Given the description of an element on the screen output the (x, y) to click on. 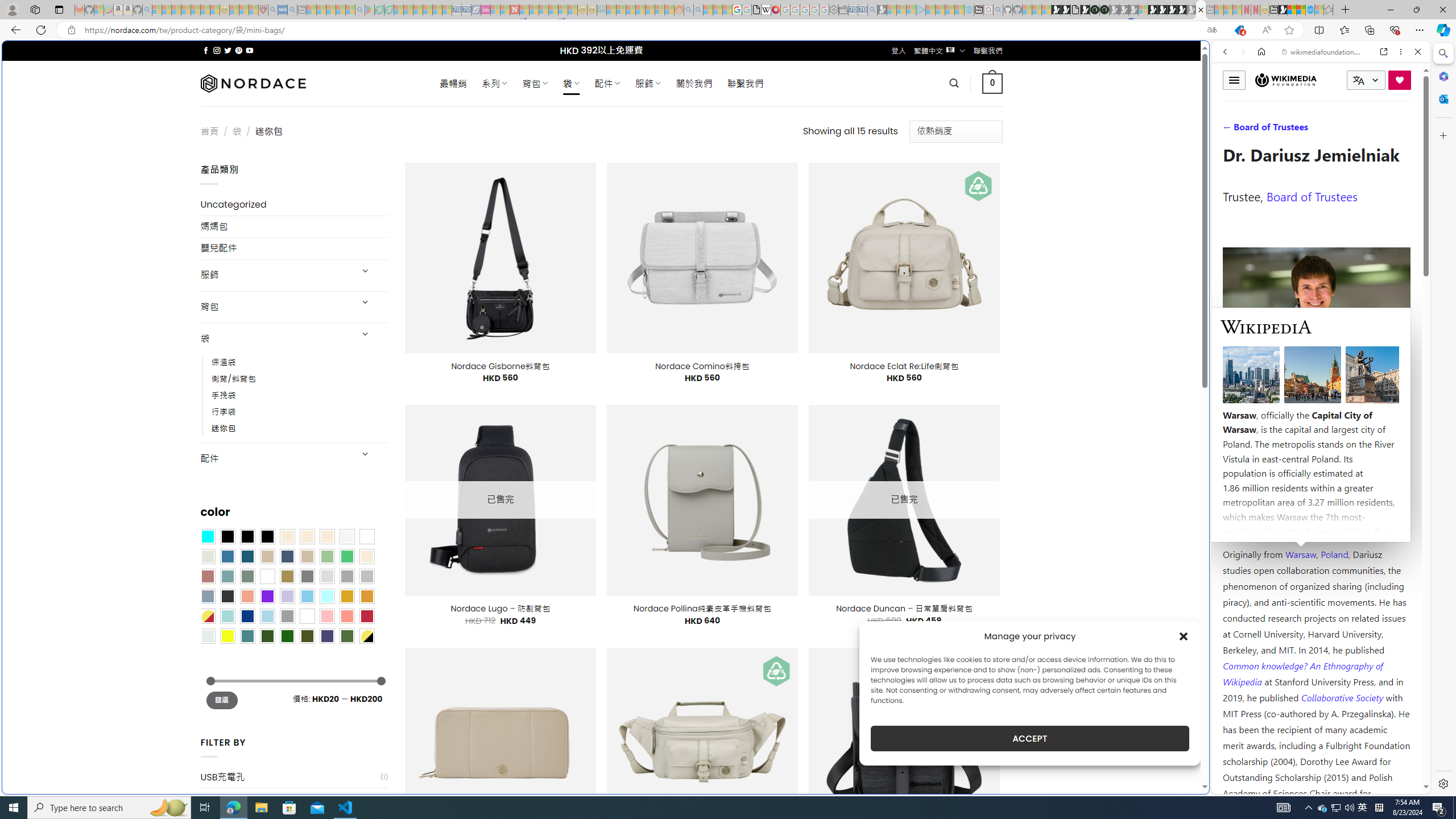
utah sues federal government - Search - Sleeping (291, 9)
Kinda Frugal - MSN - Sleeping (649, 9)
ACCEPT (1029, 738)
